Given the description of an element on the screen output the (x, y) to click on. 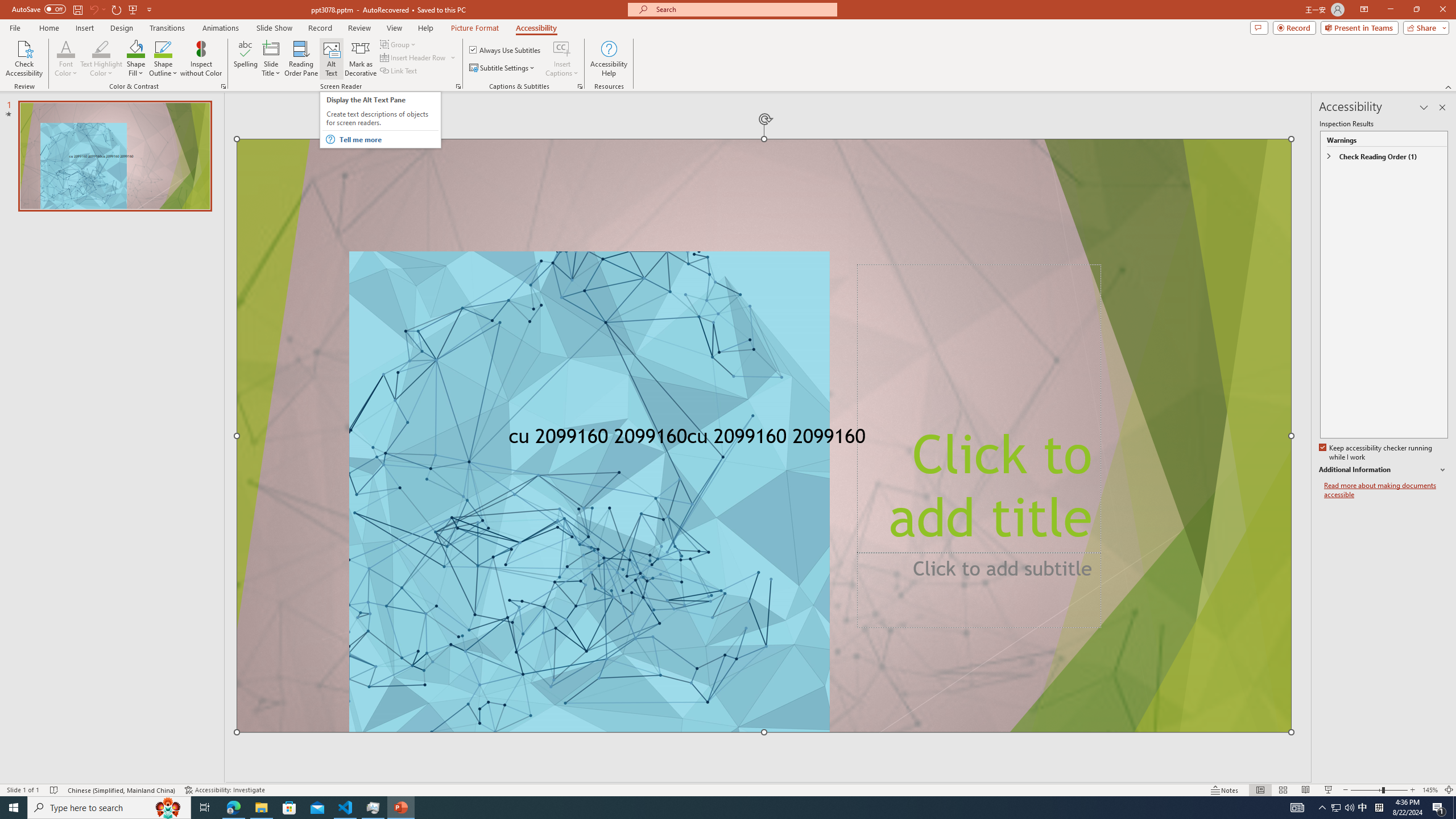
Inspect without Color (201, 58)
